Given the description of an element on the screen output the (x, y) to click on. 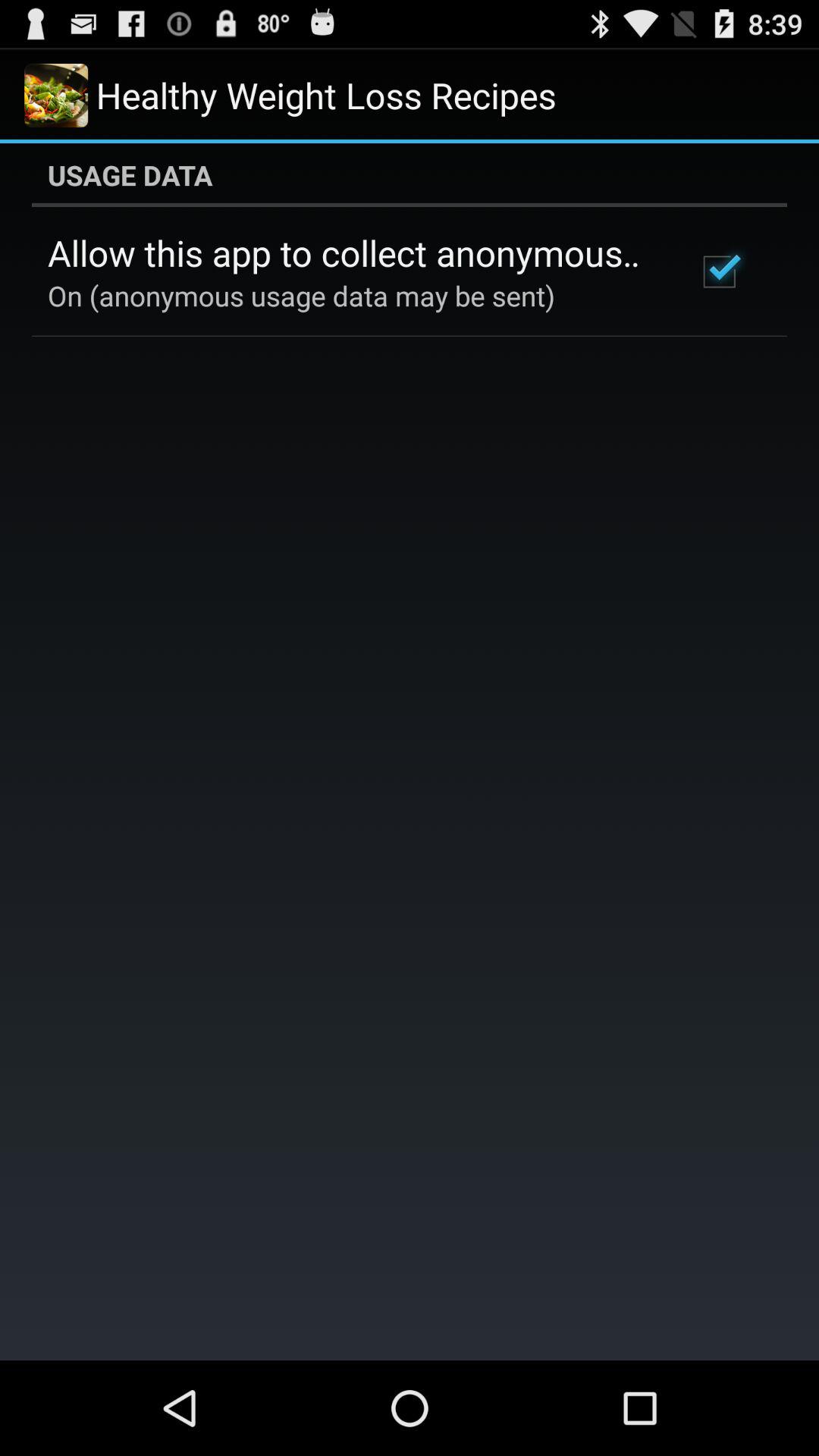
jump to allow this app (351, 252)
